Given the description of an element on the screen output the (x, y) to click on. 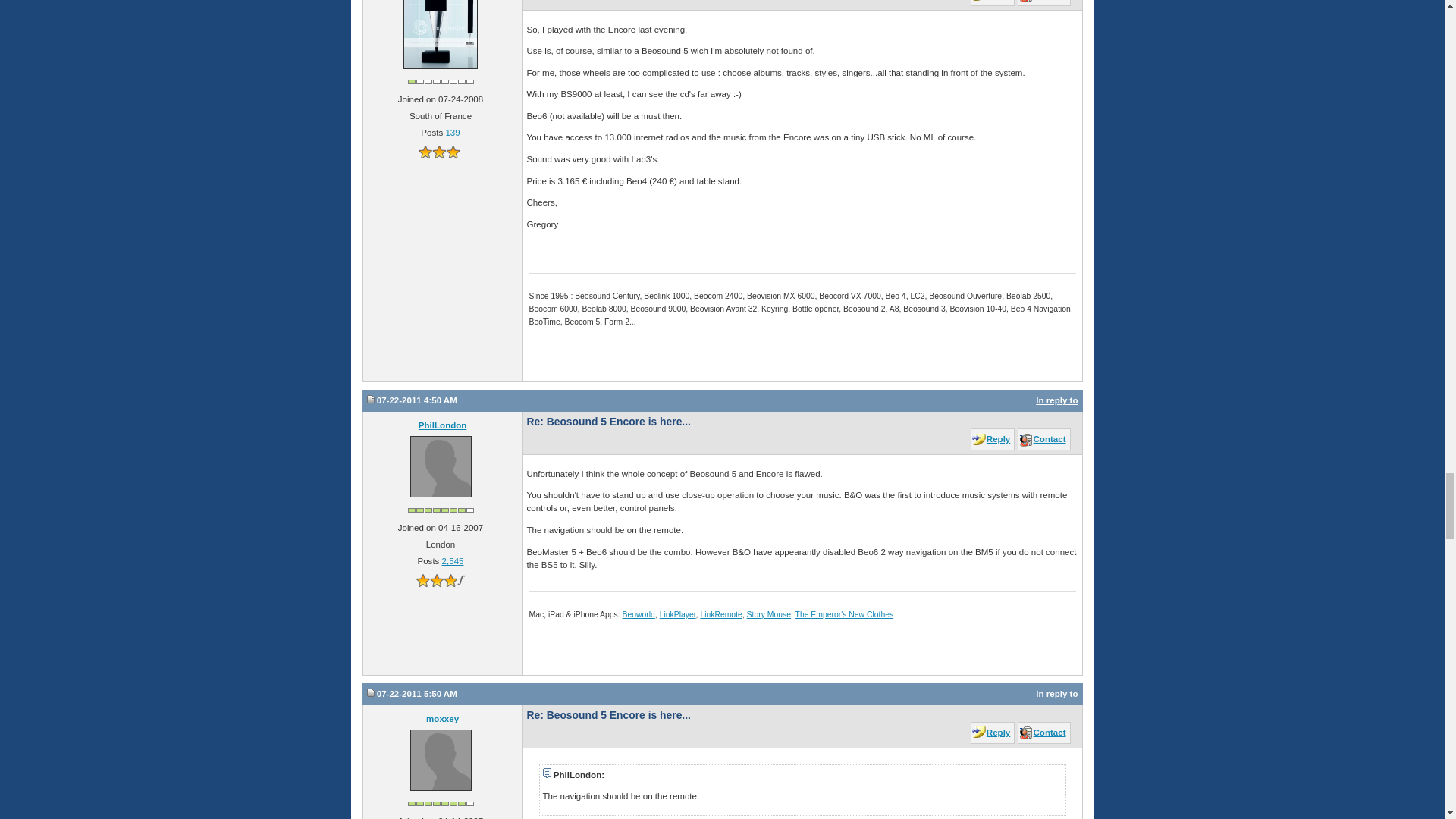
Top 500 Contributor (440, 80)
